Given the description of an element on the screen output the (x, y) to click on. 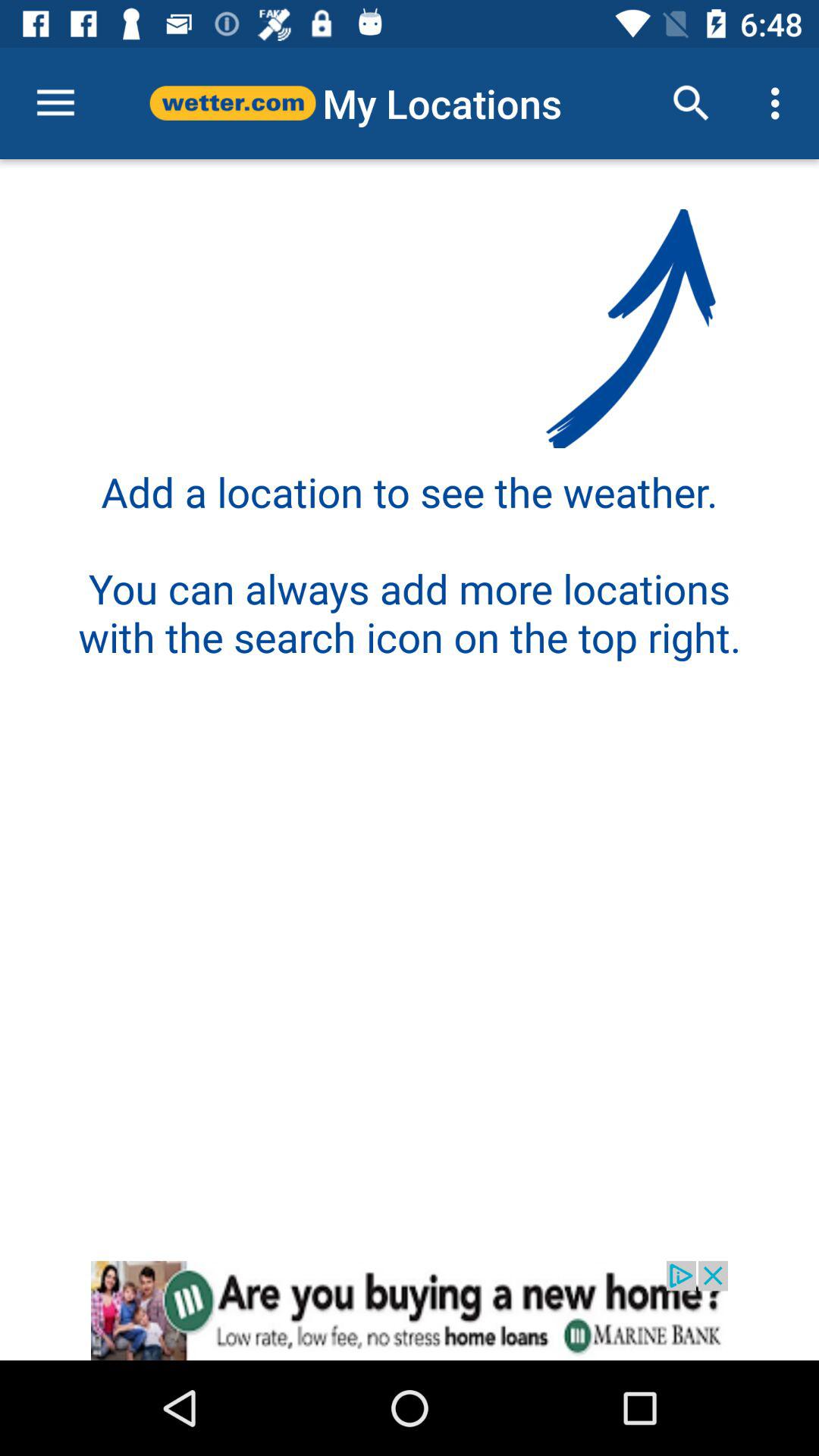
go to external advertisement (409, 1310)
